Given the description of an element on the screen output the (x, y) to click on. 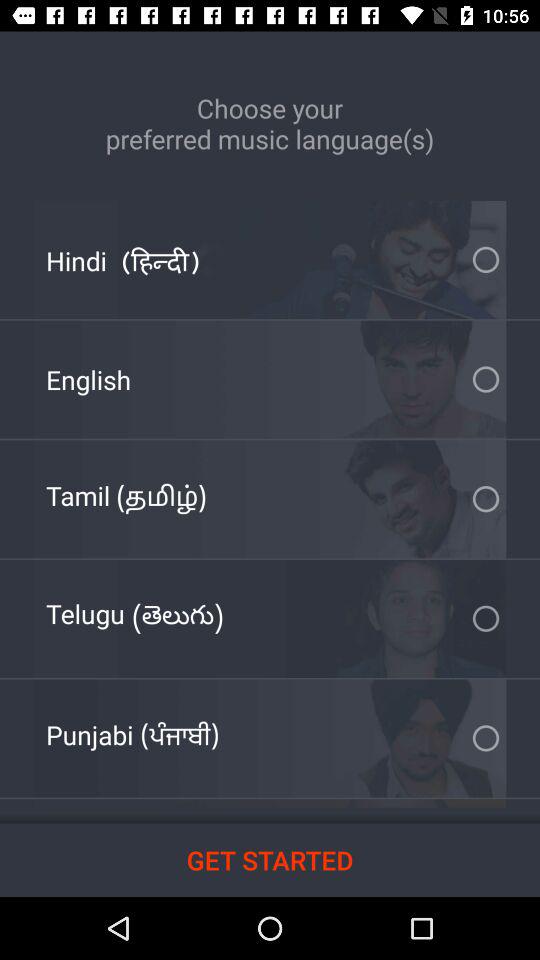
press the item below choose your preferred item (122, 259)
